Given the description of an element on the screen output the (x, y) to click on. 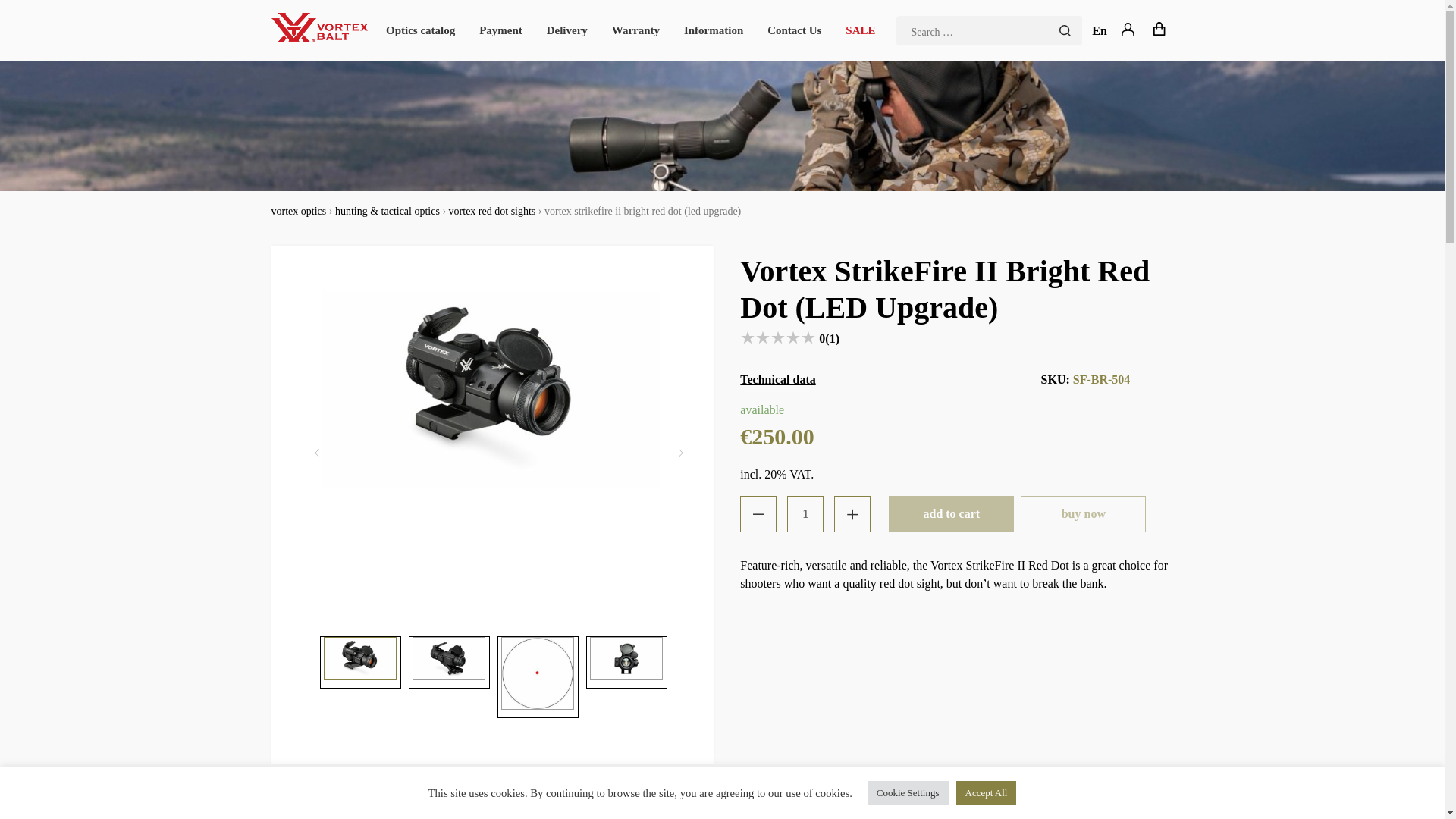
Warranty (635, 30)
Payment (500, 30)
Delivery (567, 30)
SALE (860, 30)
Optics catalog (419, 30)
Contact Us (794, 30)
Information (713, 30)
1 (805, 514)
Qty (805, 514)
